Given the description of an element on the screen output the (x, y) to click on. 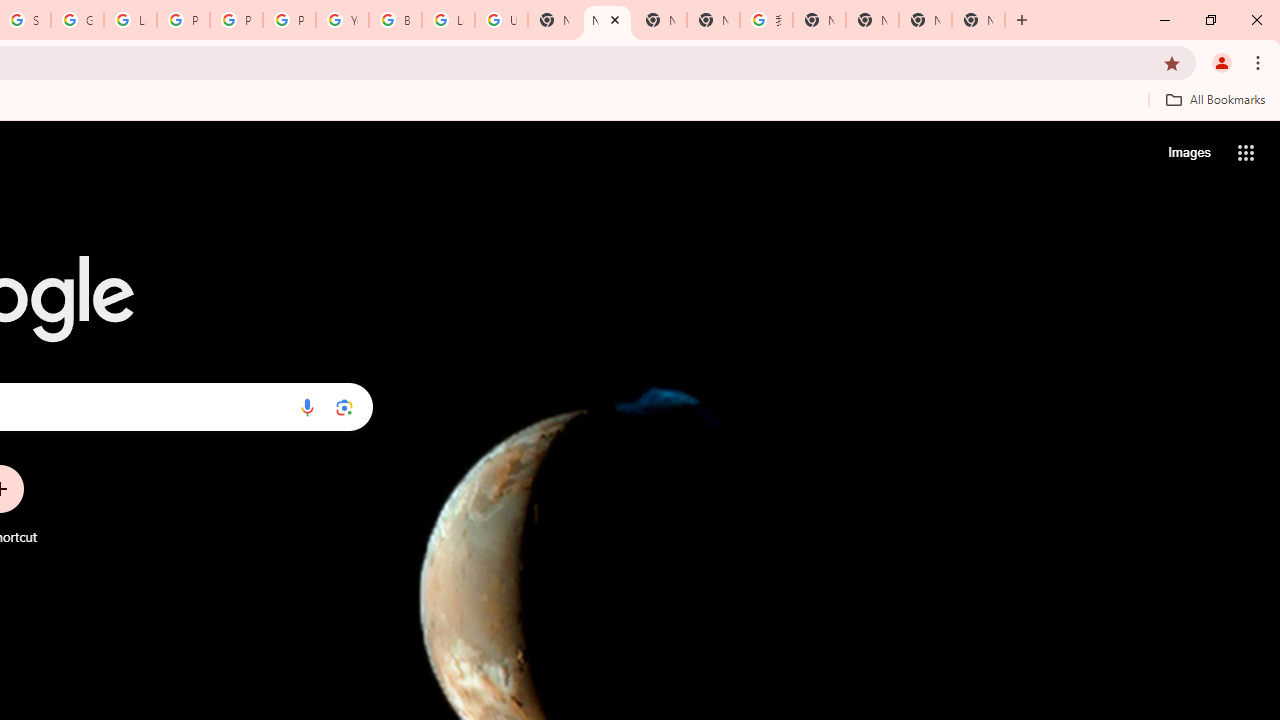
New Tab (1021, 20)
Minimize (1165, 20)
Bookmark this tab (1171, 62)
Restore (1210, 20)
Search for Images  (1188, 152)
New Tab (978, 20)
Browse Chrome as a guest - Computer - Google Chrome Help (395, 20)
Search by image (344, 407)
You (1221, 62)
Chrome (1260, 62)
